Given the description of an element on the screen output the (x, y) to click on. 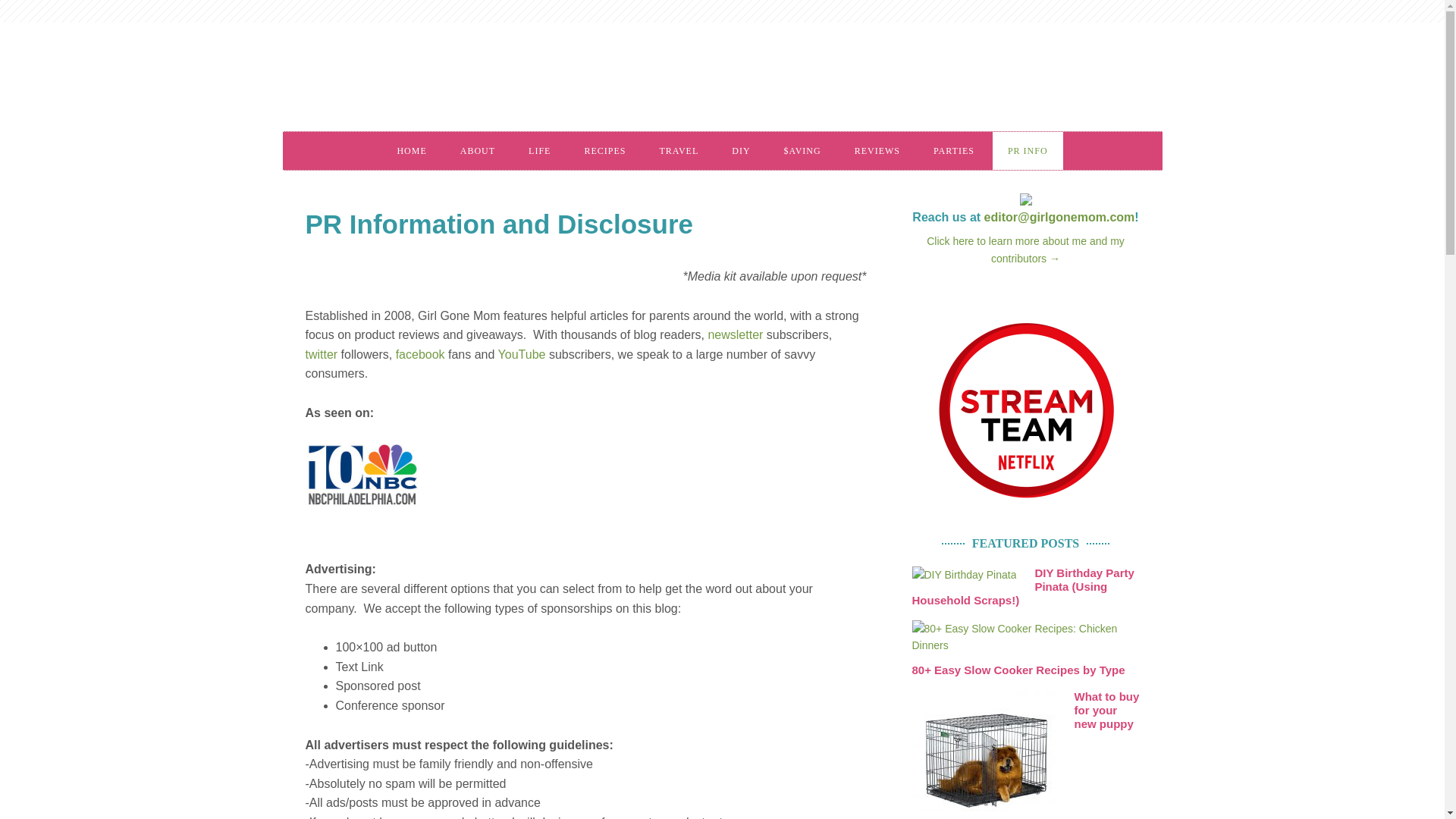
LIFE (539, 150)
DIY (740, 150)
ABOUT (478, 150)
TRAVEL (678, 150)
wcau10 (361, 474)
HOME (411, 150)
Girl Gone Mom (509, 82)
RECIPES (604, 150)
